Given the description of an element on the screen output the (x, y) to click on. 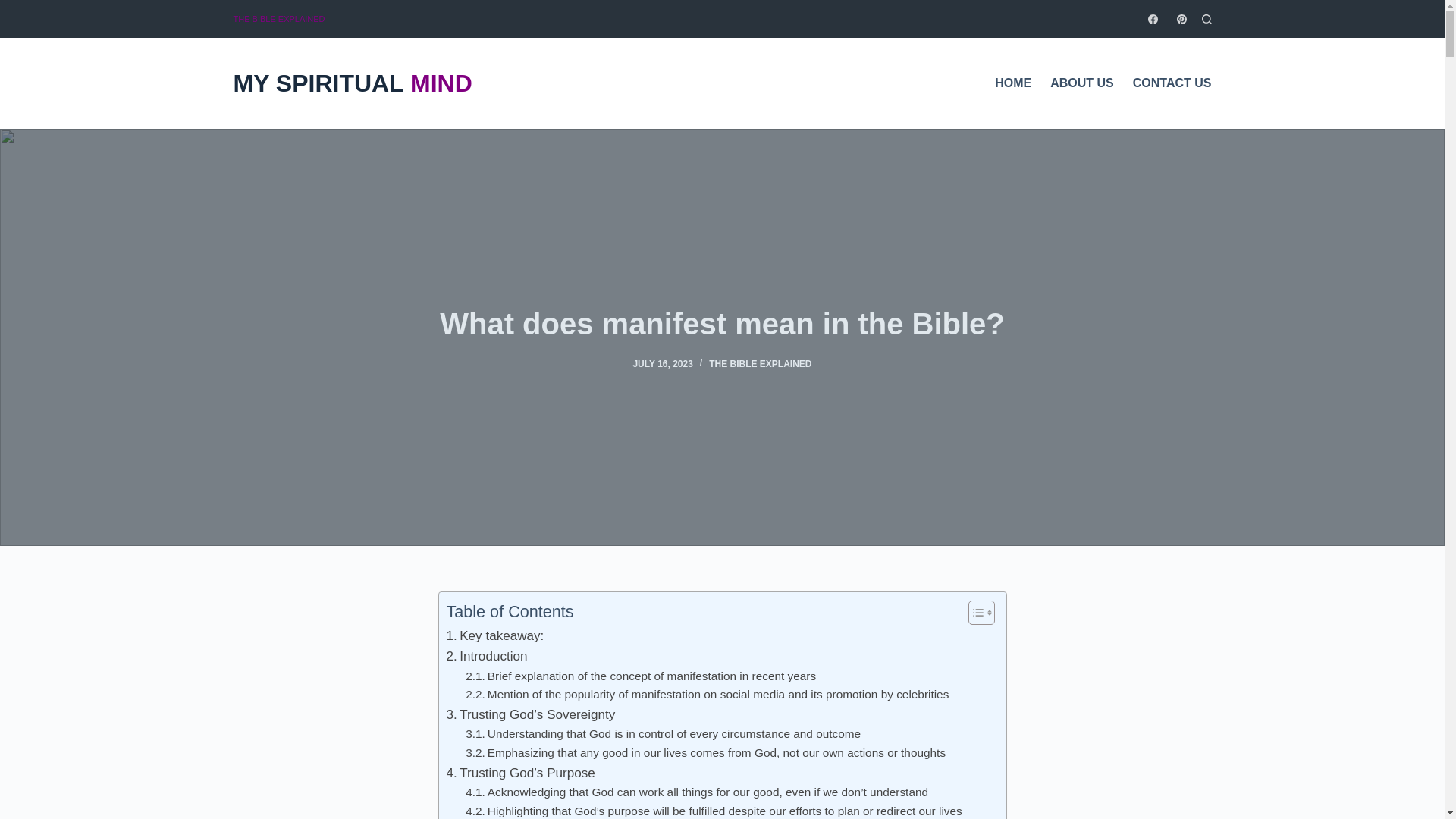
Key takeaway: (494, 635)
THE BIBLE EXPLAINED (278, 18)
CONTACT US (1166, 82)
MY SPIRITUAL MIND (351, 84)
ABOUT US (1082, 82)
Introduction (486, 656)
Key takeaway: (494, 635)
THE BIBLE EXPLAINED (759, 363)
Skip to content (15, 7)
